Given the description of an element on the screen output the (x, y) to click on. 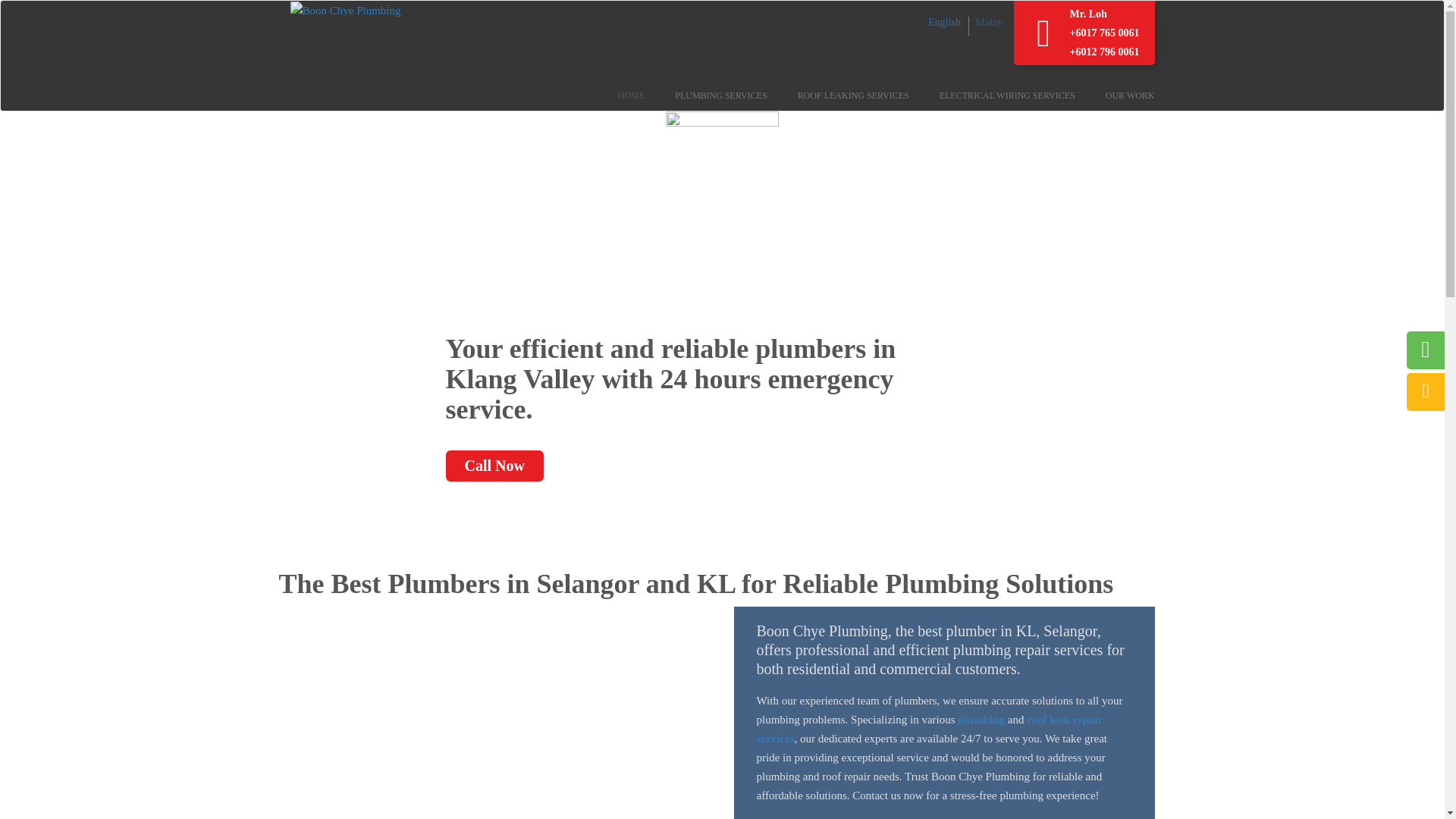
Plumbing Services (706, 95)
PLUMBING SERVICES (706, 95)
ROOF LEAKING SERVICES (837, 95)
ELECTRICAL WIRING SERVICES (991, 95)
plumbing (982, 719)
ROOF LEAKING SERVICES (837, 95)
OUR WORK (1114, 95)
OUR WORK (1114, 95)
roof leak repair services (930, 728)
HOME (616, 95)
